Given the description of an element on the screen output the (x, y) to click on. 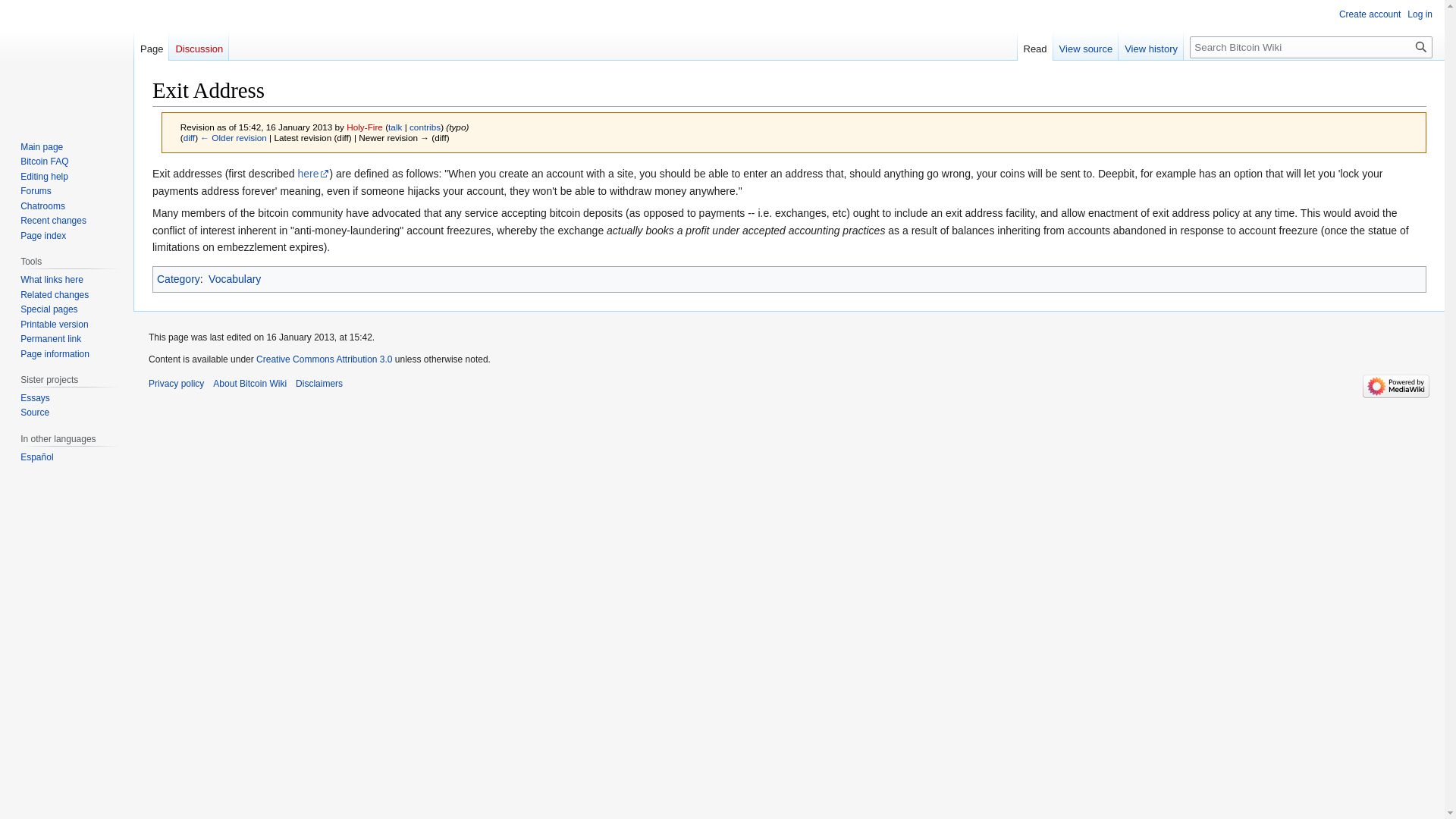
Discussion (198, 45)
Category (178, 278)
Page (150, 45)
Special:Categories (178, 278)
What links here (51, 279)
Log in (1419, 14)
Page index (42, 235)
Go (1420, 46)
Read (1034, 45)
Editing help (44, 176)
diff (189, 137)
Search (1420, 46)
Go (1420, 46)
Page information (54, 353)
